Given the description of an element on the screen output the (x, y) to click on. 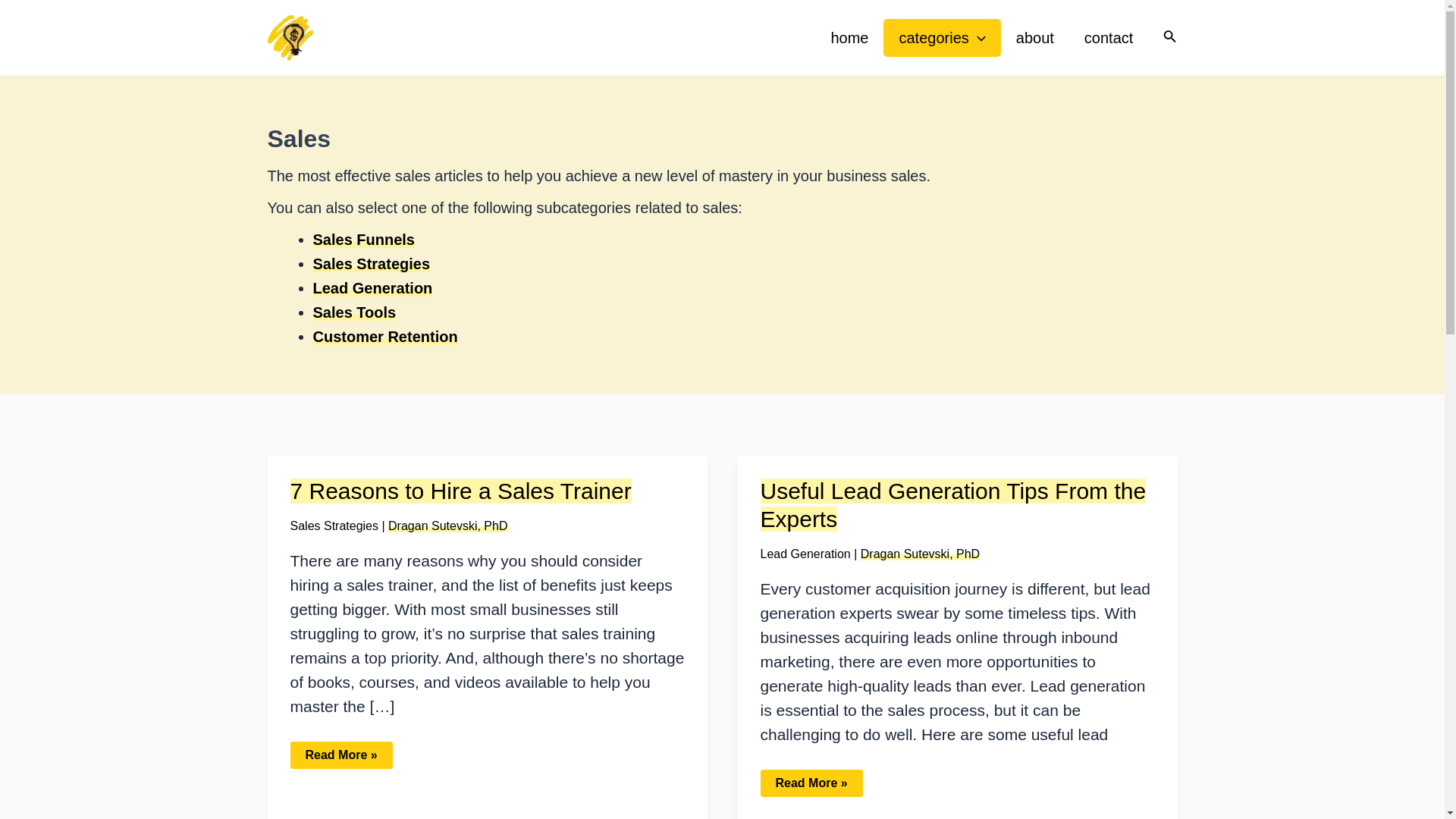
Sales Funnels (363, 239)
Customer Retention (385, 336)
Lead Generation (372, 288)
View all posts by Dragan Sutevski, PhD (919, 553)
contact (1108, 37)
Dragan Sutevski, PhD (447, 525)
Dragan Sutevski, PhD (919, 553)
categories (941, 37)
about (1034, 37)
7 Reasons to Hire a Sales Trainer (459, 490)
Lead Generation (805, 553)
Useful Lead Generation Tips From the Experts (952, 504)
Sales Strategies (333, 525)
home (849, 37)
Sales Strategies (371, 263)
